Given the description of an element on the screen output the (x, y) to click on. 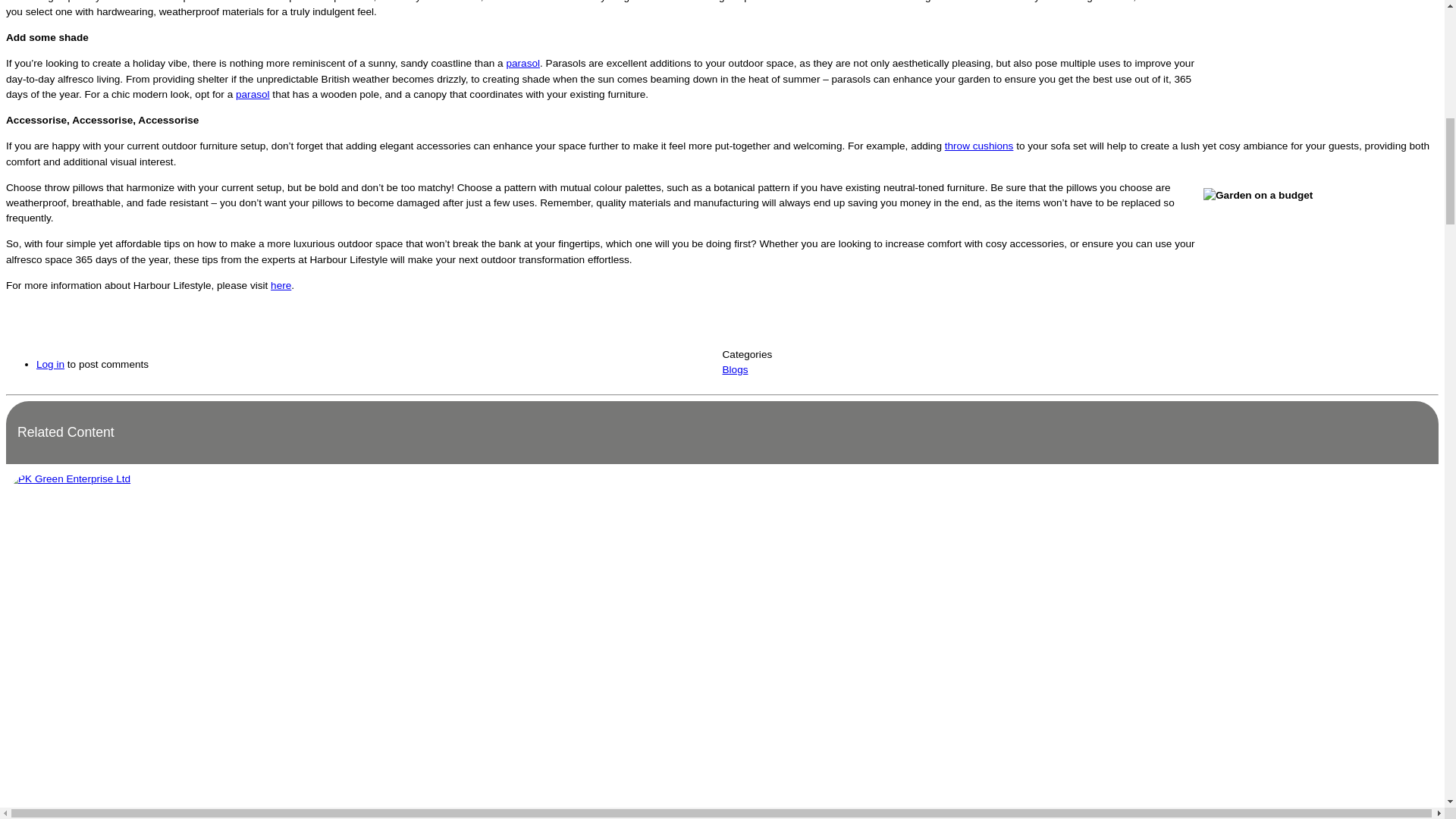
parasol (522, 62)
Log in (50, 364)
parasol (252, 93)
here (280, 285)
throw cushions (978, 145)
